Given the description of an element on the screen output the (x, y) to click on. 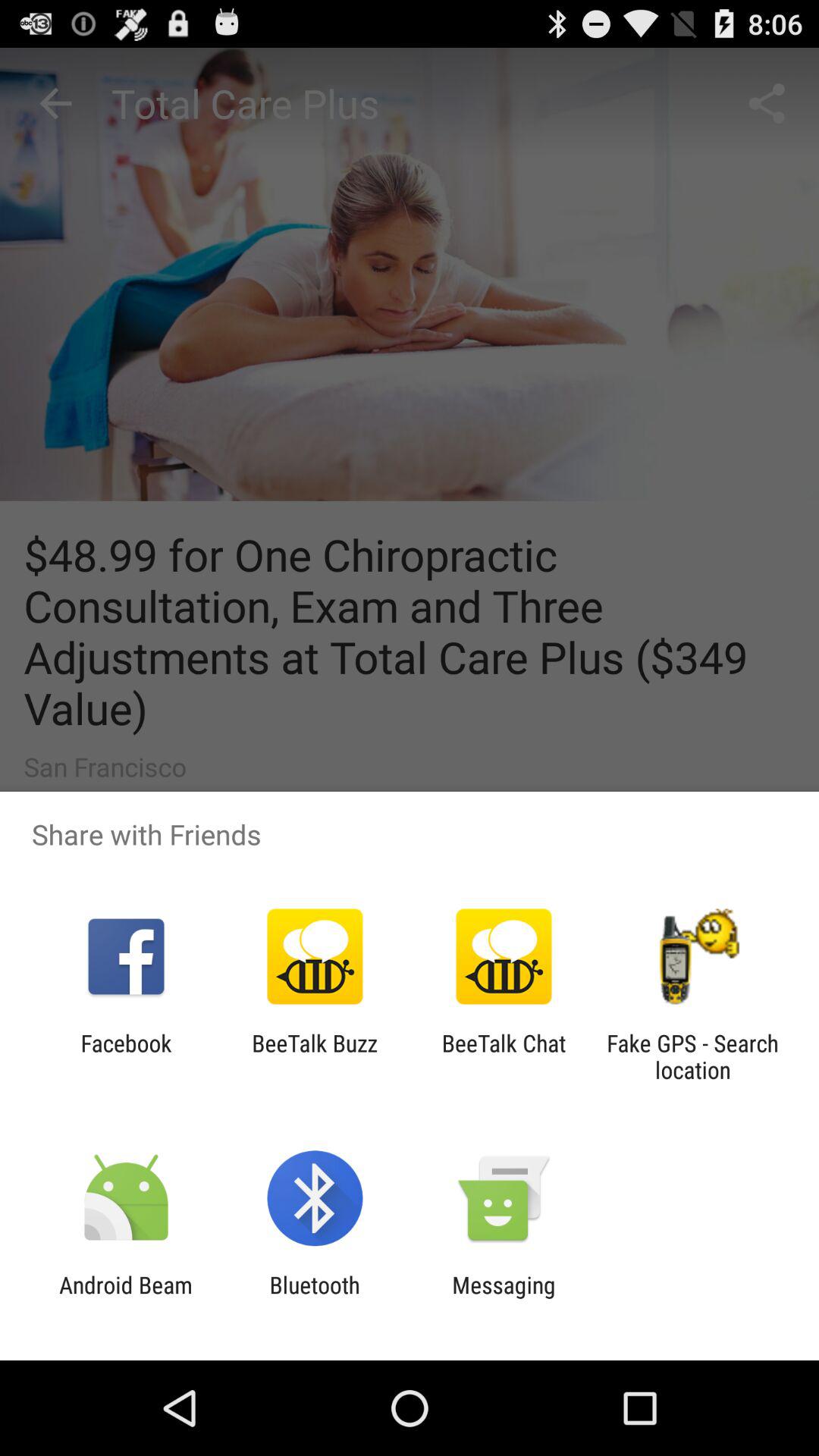
click the app next to messaging app (314, 1298)
